Given the description of an element on the screen output the (x, y) to click on. 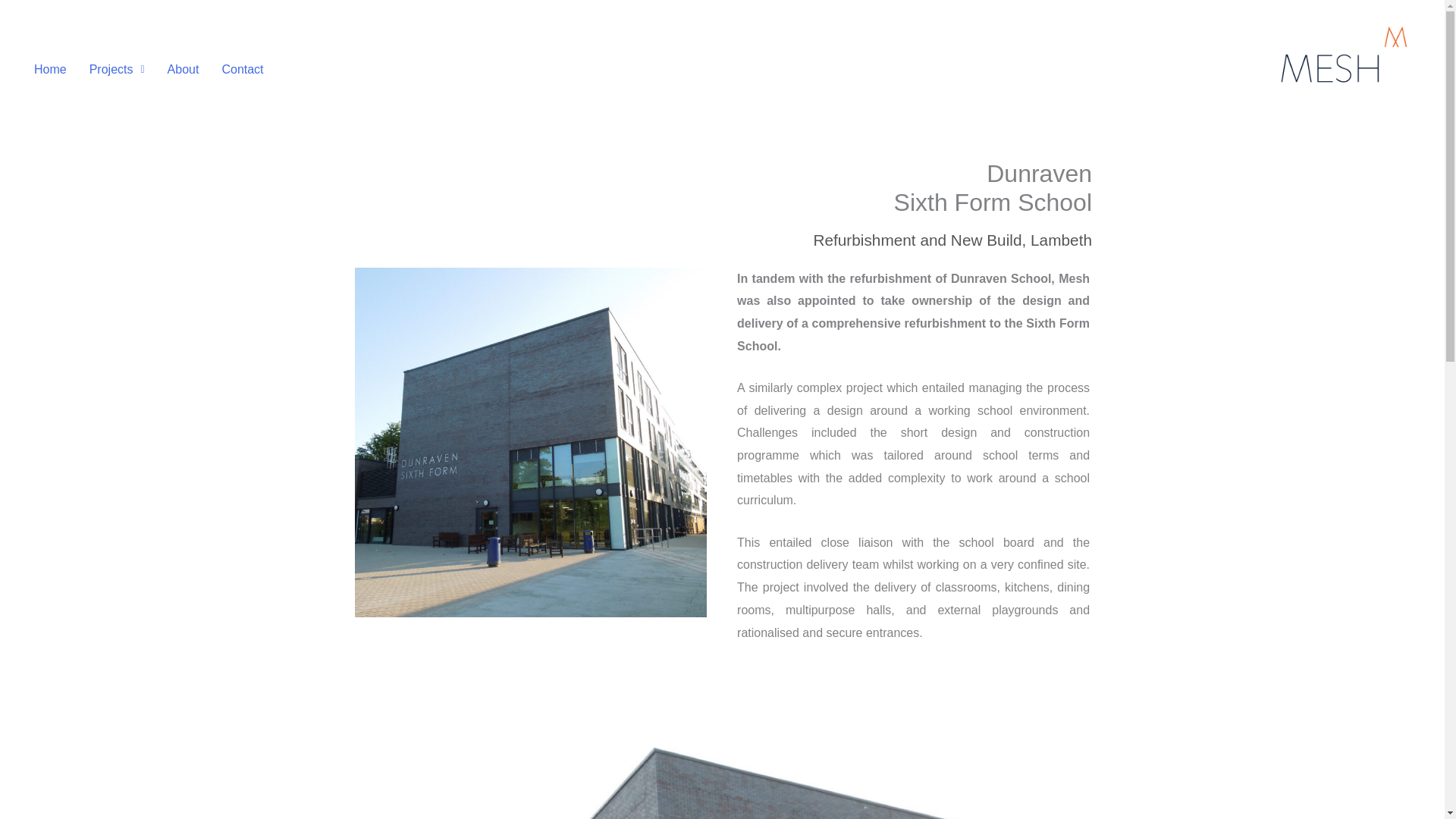
Page 3 (912, 454)
Projects (116, 69)
About (183, 69)
Home (50, 69)
Contact (242, 69)
